Given the description of an element on the screen output the (x, y) to click on. 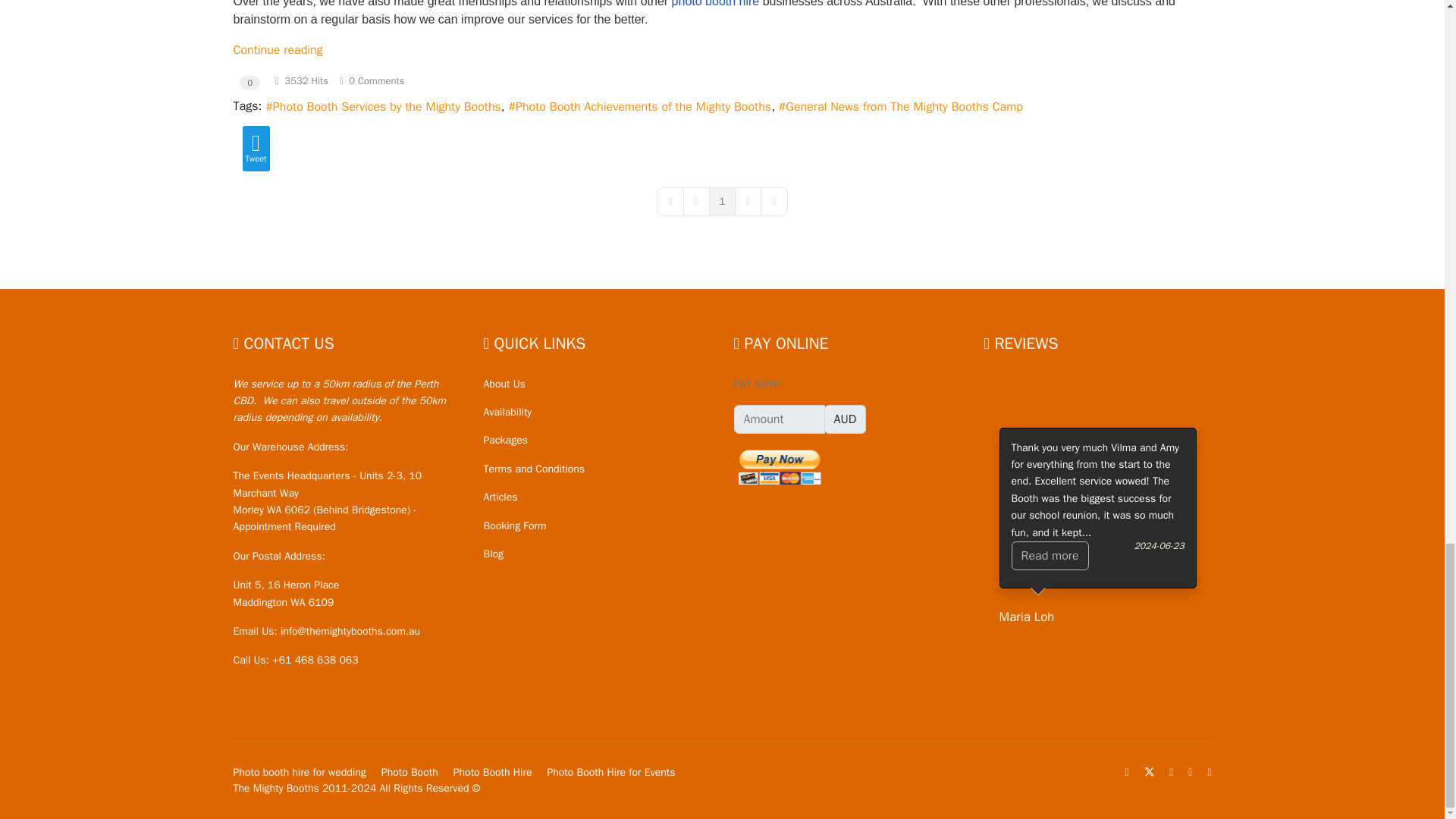
0 votes (250, 82)
